Given the description of an element on the screen output the (x, y) to click on. 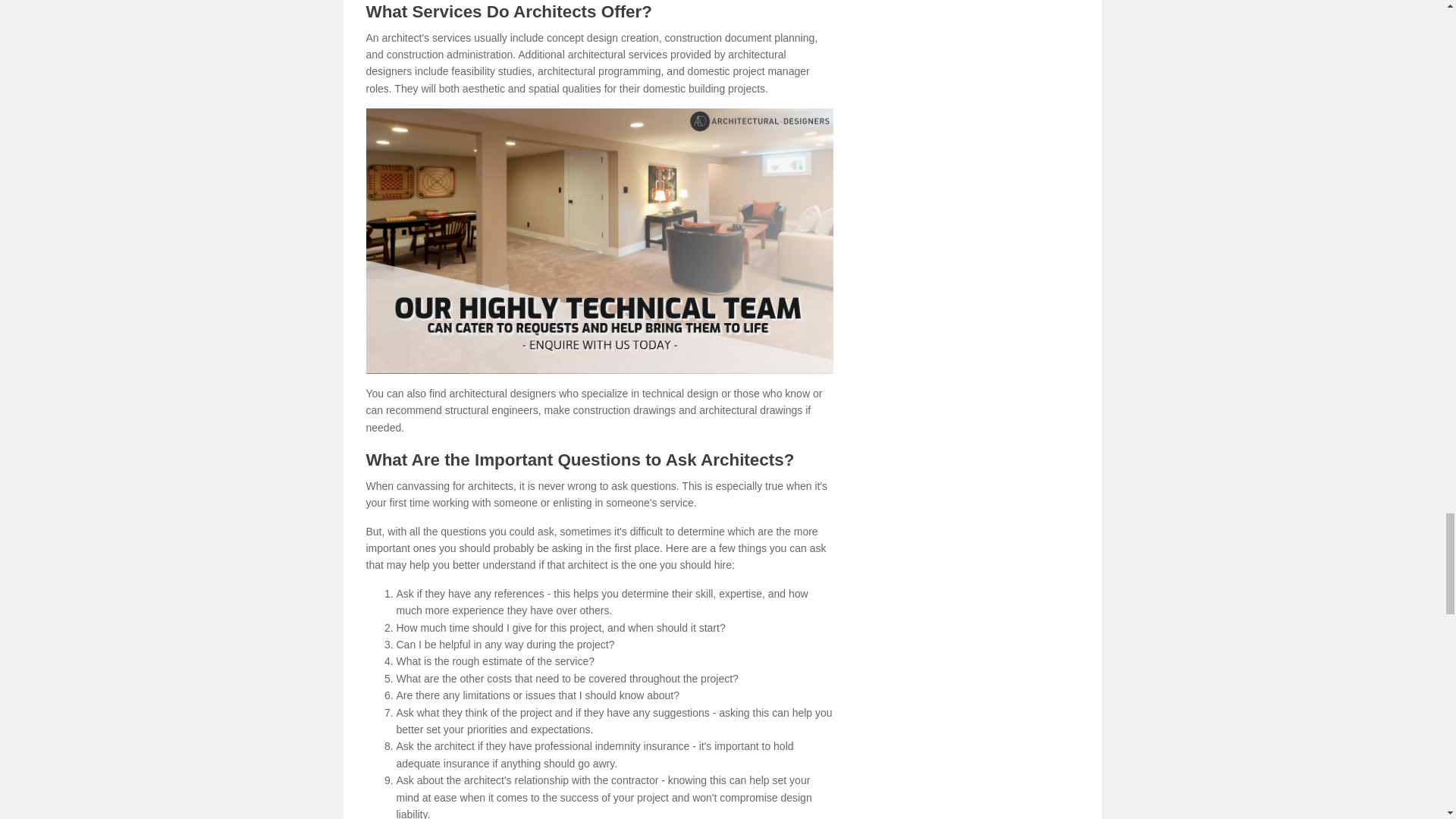
Home (598, 240)
